Given the description of an element on the screen output the (x, y) to click on. 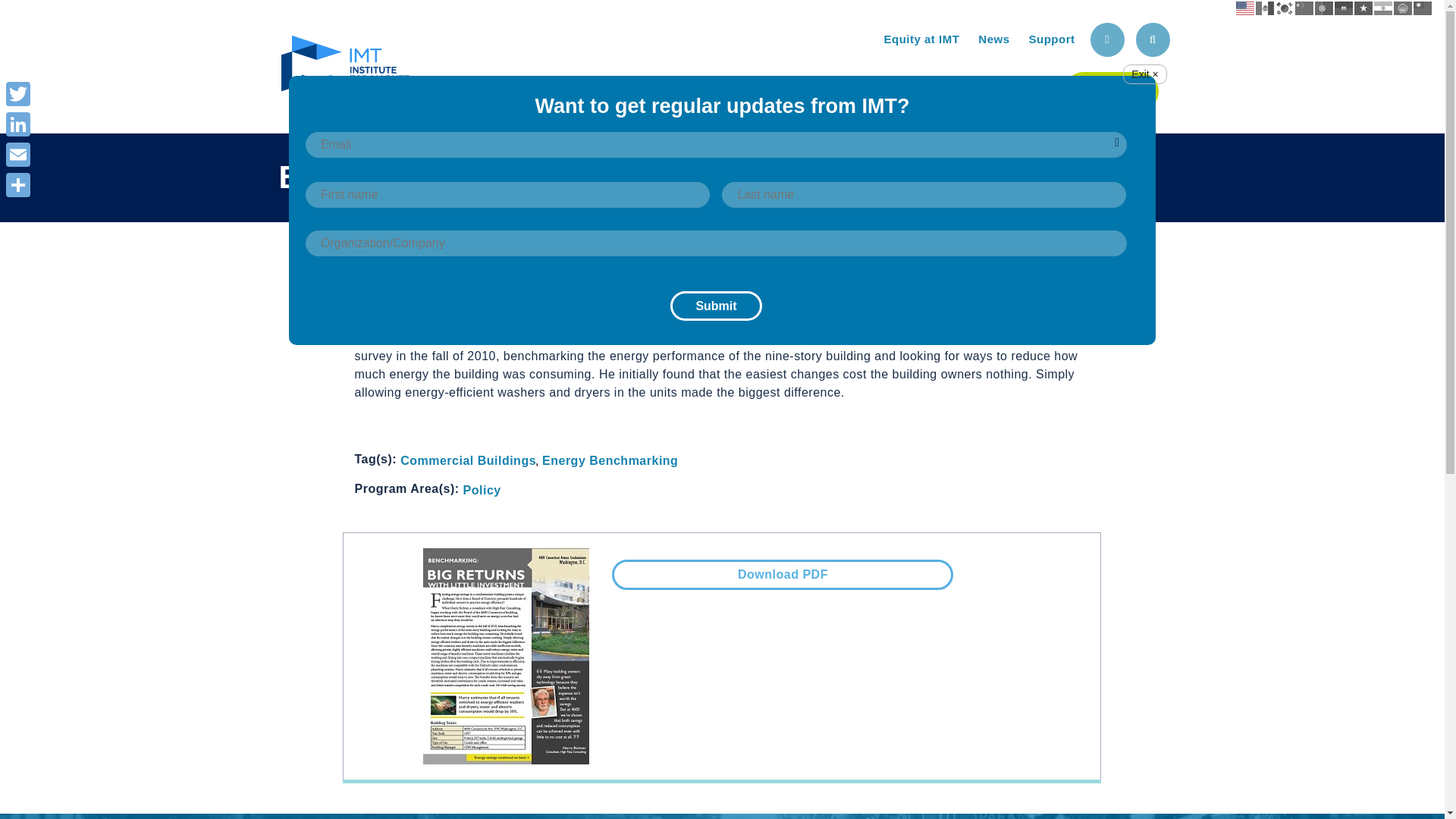
LinkedIn (17, 123)
Email (17, 154)
Twitter (17, 93)
About Us (687, 87)
Resource Library (972, 87)
Kreyol ayisyen (1344, 6)
Support (1051, 39)
Our Programs (816, 87)
Submit (715, 306)
Search (1152, 39)
Equity at IMT (920, 39)
News (993, 39)
English (1245, 6)
